Given the description of an element on the screen output the (x, y) to click on. 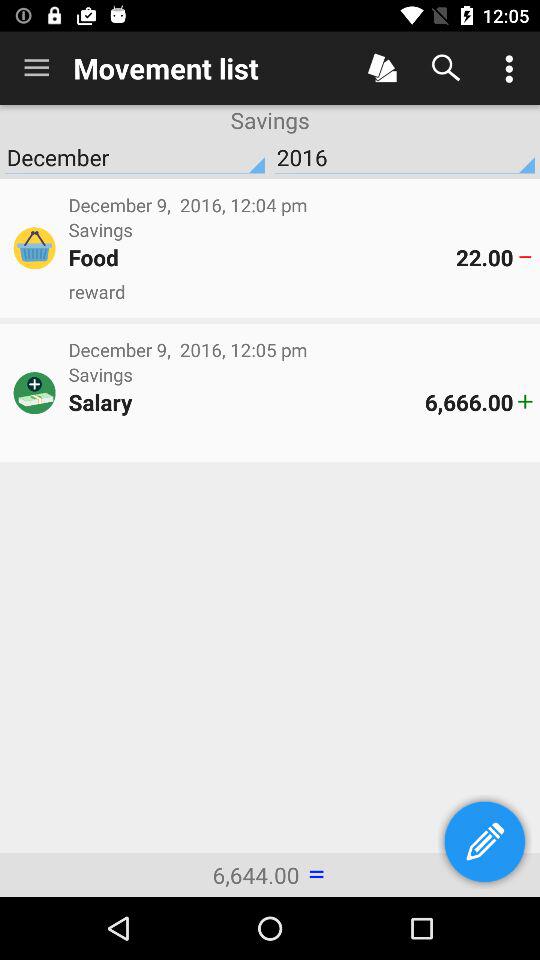
turn on food icon (262, 257)
